Given the description of an element on the screen output the (x, y) to click on. 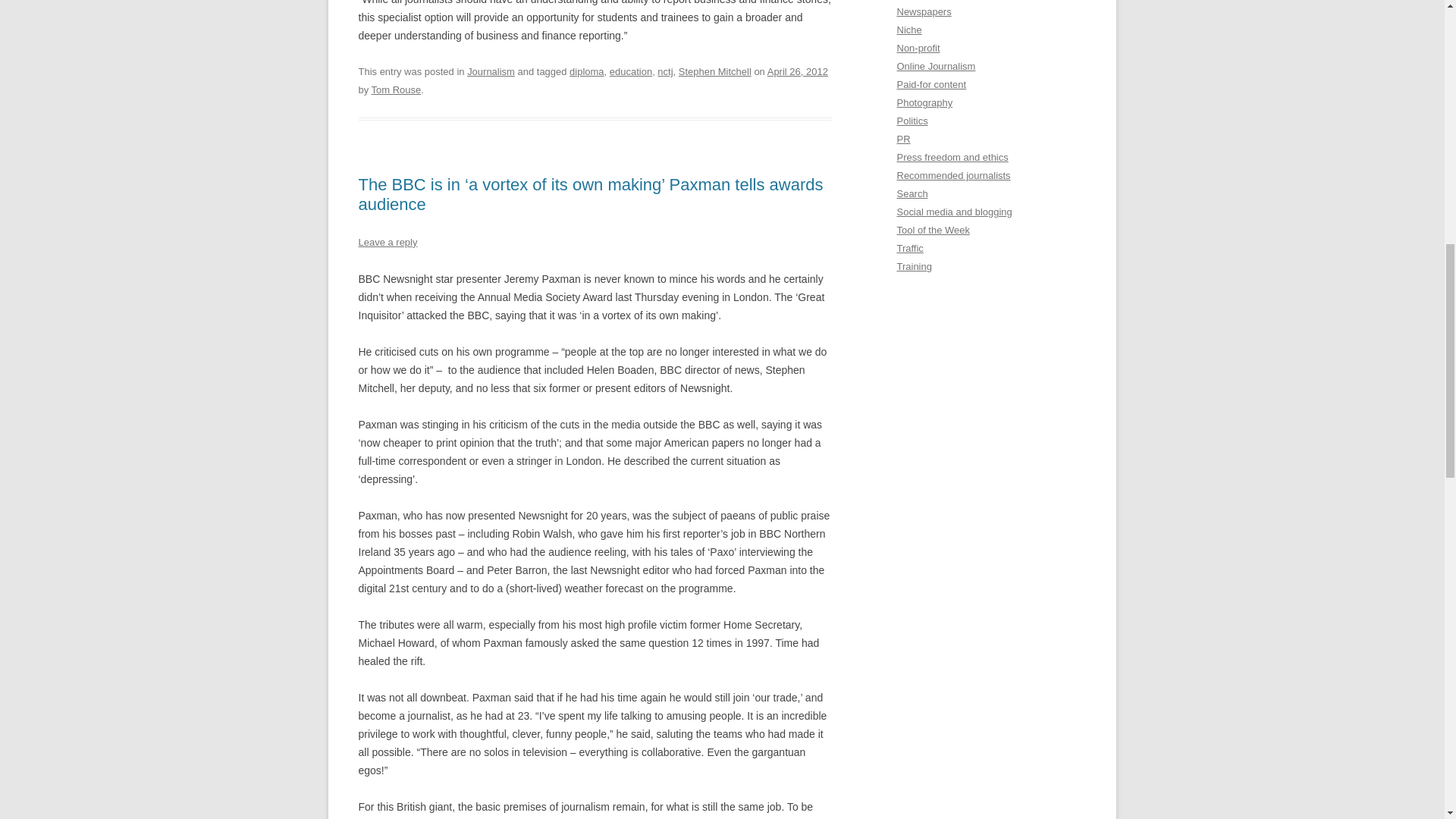
diploma (586, 71)
education (631, 71)
View all posts by Tom Rouse (396, 89)
Tom Rouse (396, 89)
nctj (665, 71)
4:18 pm (797, 71)
Stephen Mitchell (714, 71)
Journalism (491, 71)
Leave a reply (387, 242)
April 26, 2012 (797, 71)
